Given the description of an element on the screen output the (x, y) to click on. 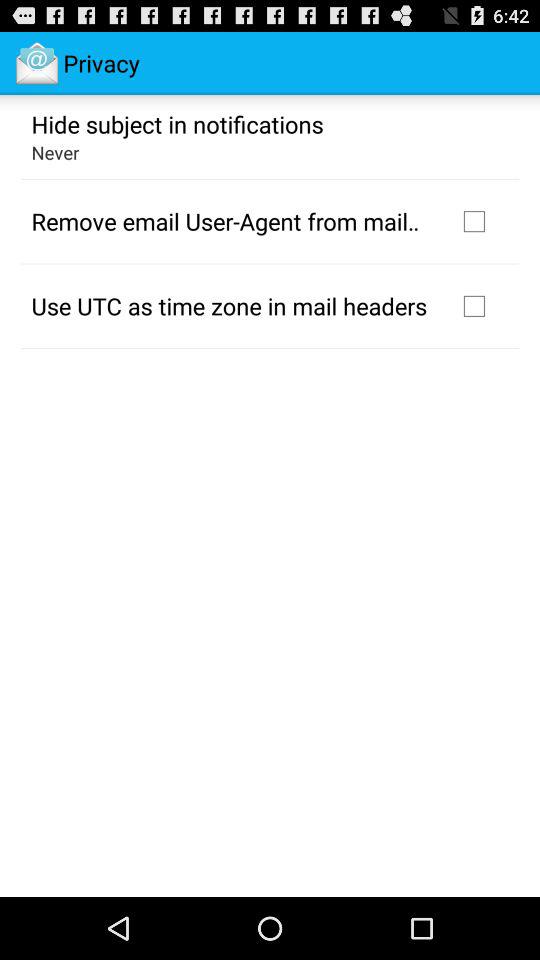
select the icon below remove email user app (229, 305)
